Given the description of an element on the screen output the (x, y) to click on. 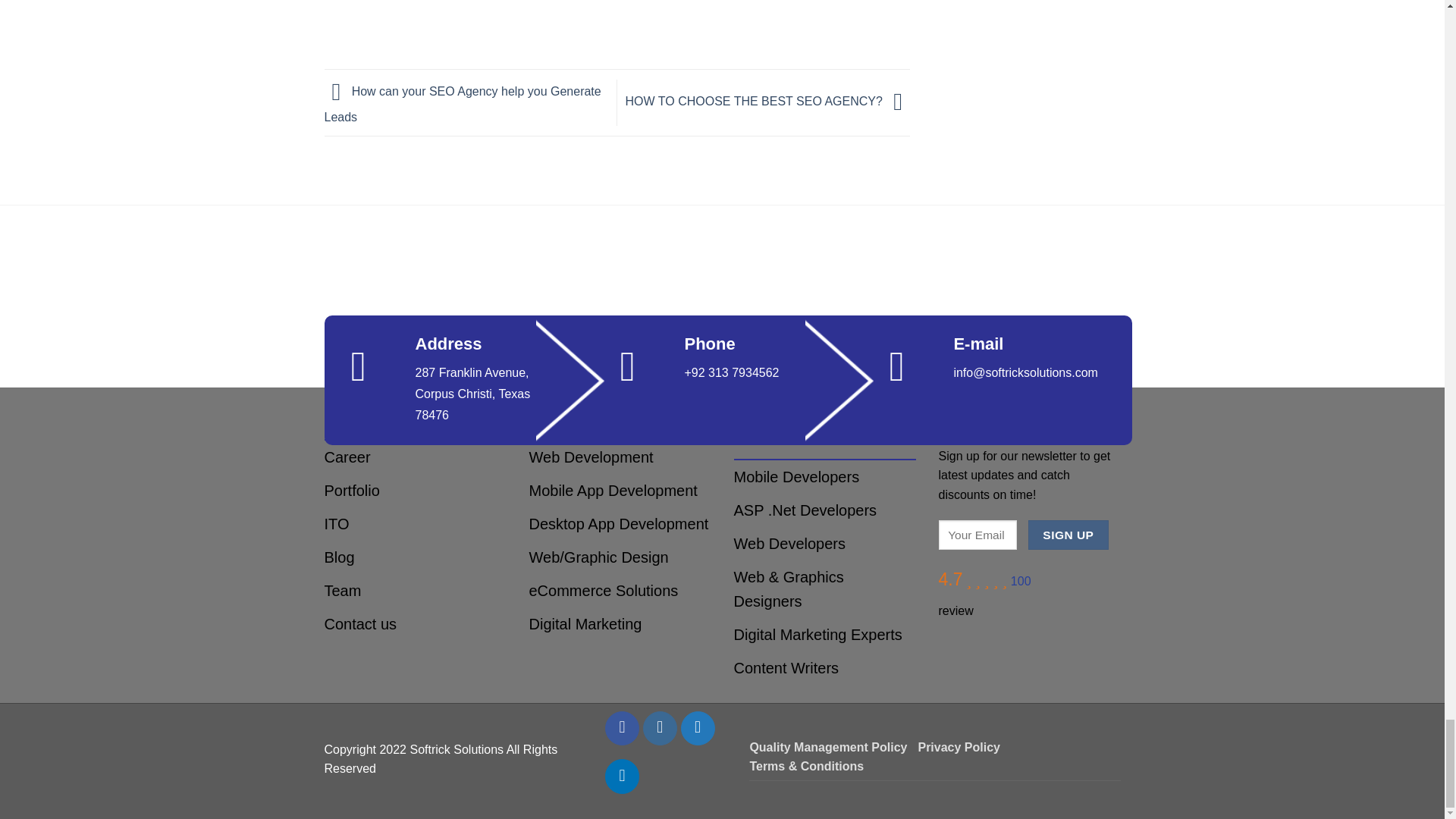
Sign Up (1067, 534)
